Given the description of an element on the screen output the (x, y) to click on. 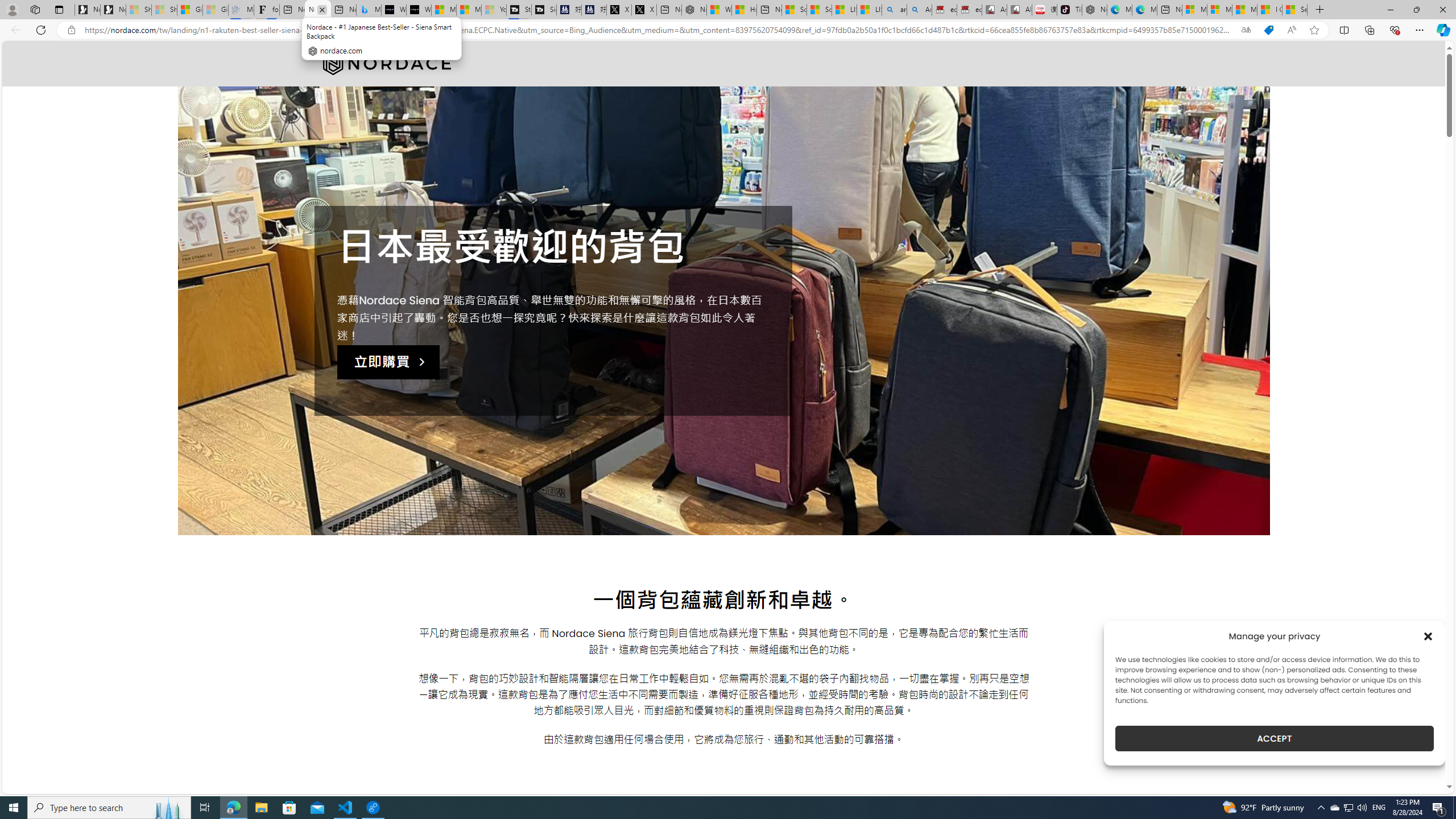
I Gained 20 Pounds of Muscle in 30 Days! | Watch (1269, 9)
